Given the description of an element on the screen output the (x, y) to click on. 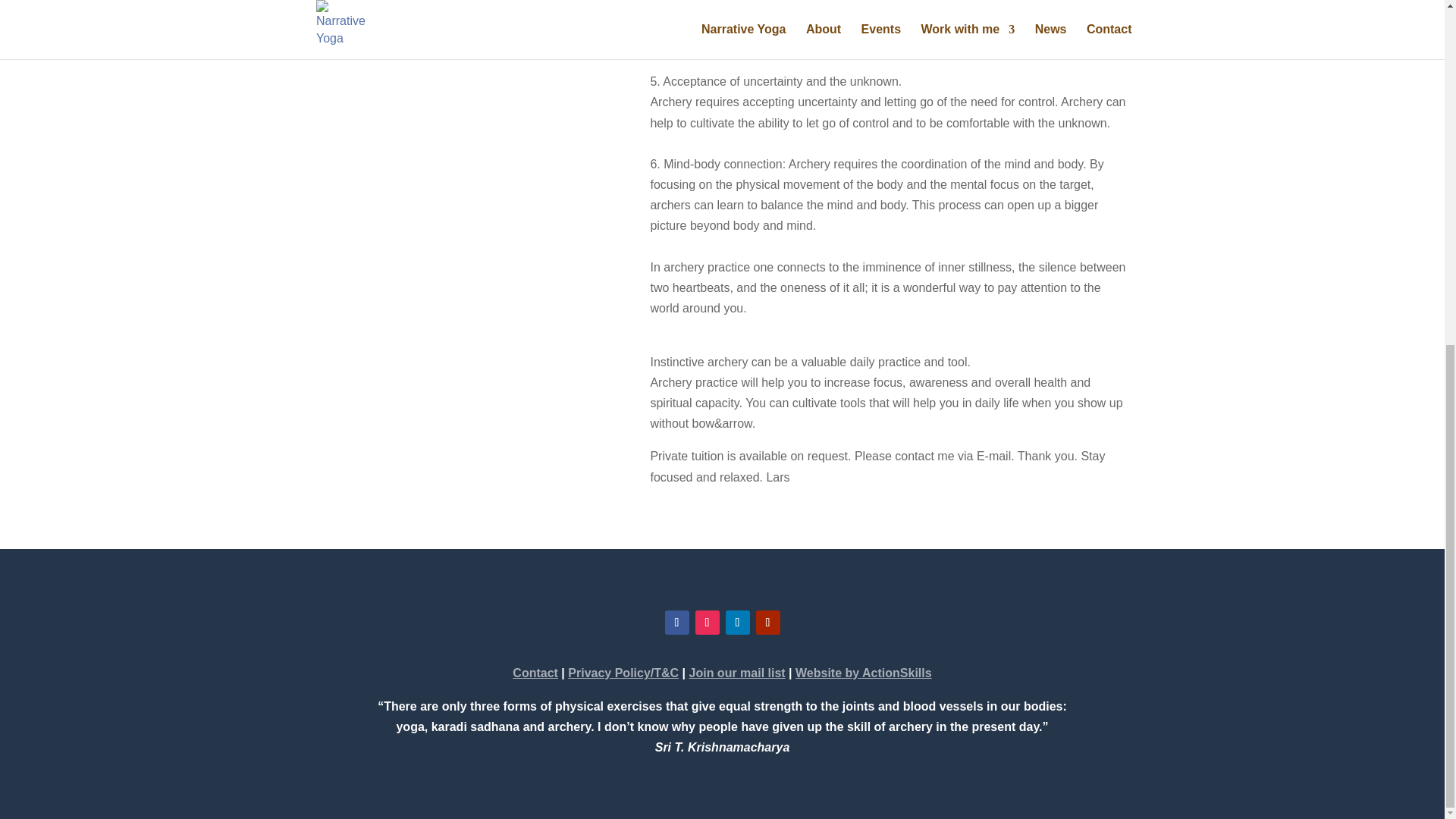
Join our mail list (737, 672)
Follow on Facebook (675, 622)
Contact (534, 672)
Website by ActionSkills (862, 672)
Follow on LinkedIn (737, 622)
Follow on Youtube (766, 622)
Follow on Instagram (706, 622)
